Given the description of an element on the screen output the (x, y) to click on. 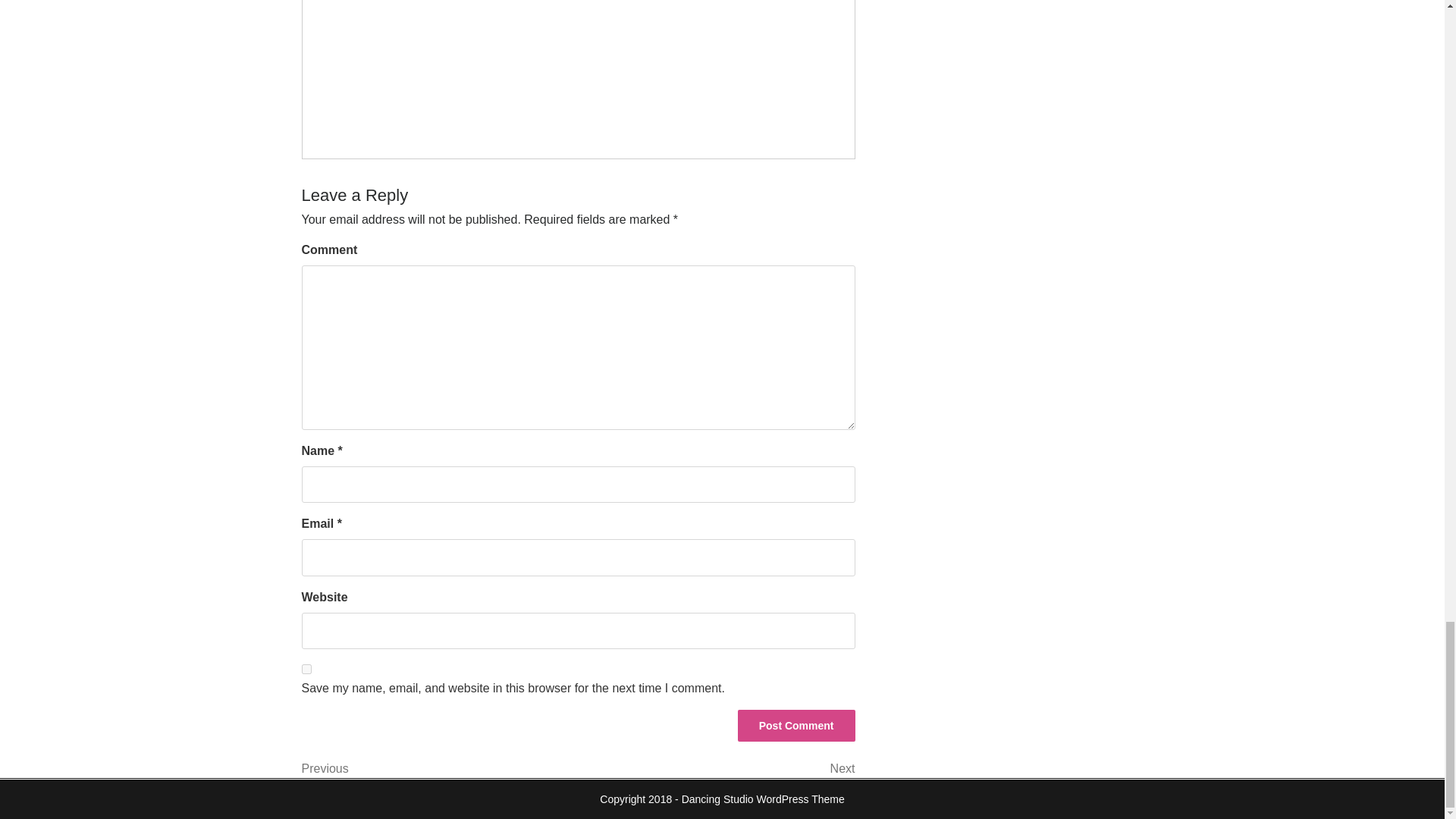
Post Comment (797, 726)
Bulk Billing: our role in protecting free healthcare! (507, 55)
Post Comment (797, 726)
yes (439, 769)
Dancing Studio WordPress Theme (306, 669)
